Given the description of an element on the screen output the (x, y) to click on. 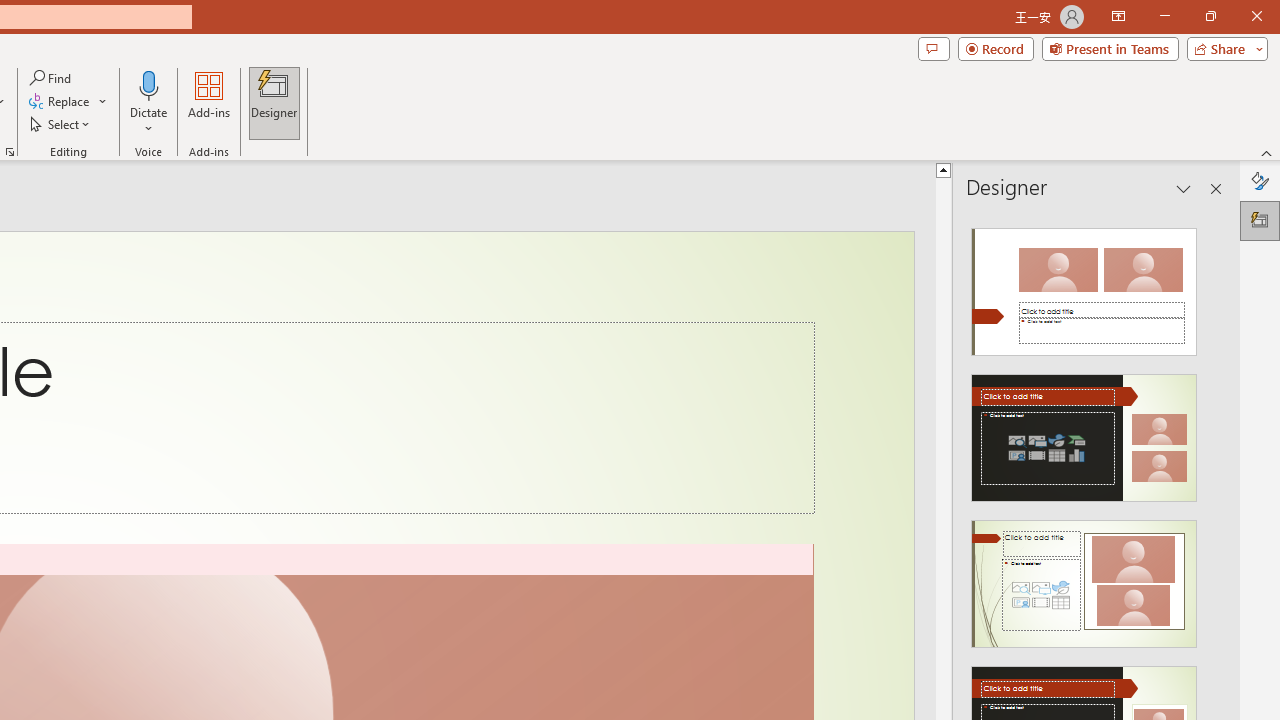
Design Idea (1083, 577)
Format Background (1260, 180)
Recommended Design: Design Idea (1083, 286)
